Given the description of an element on the screen output the (x, y) to click on. 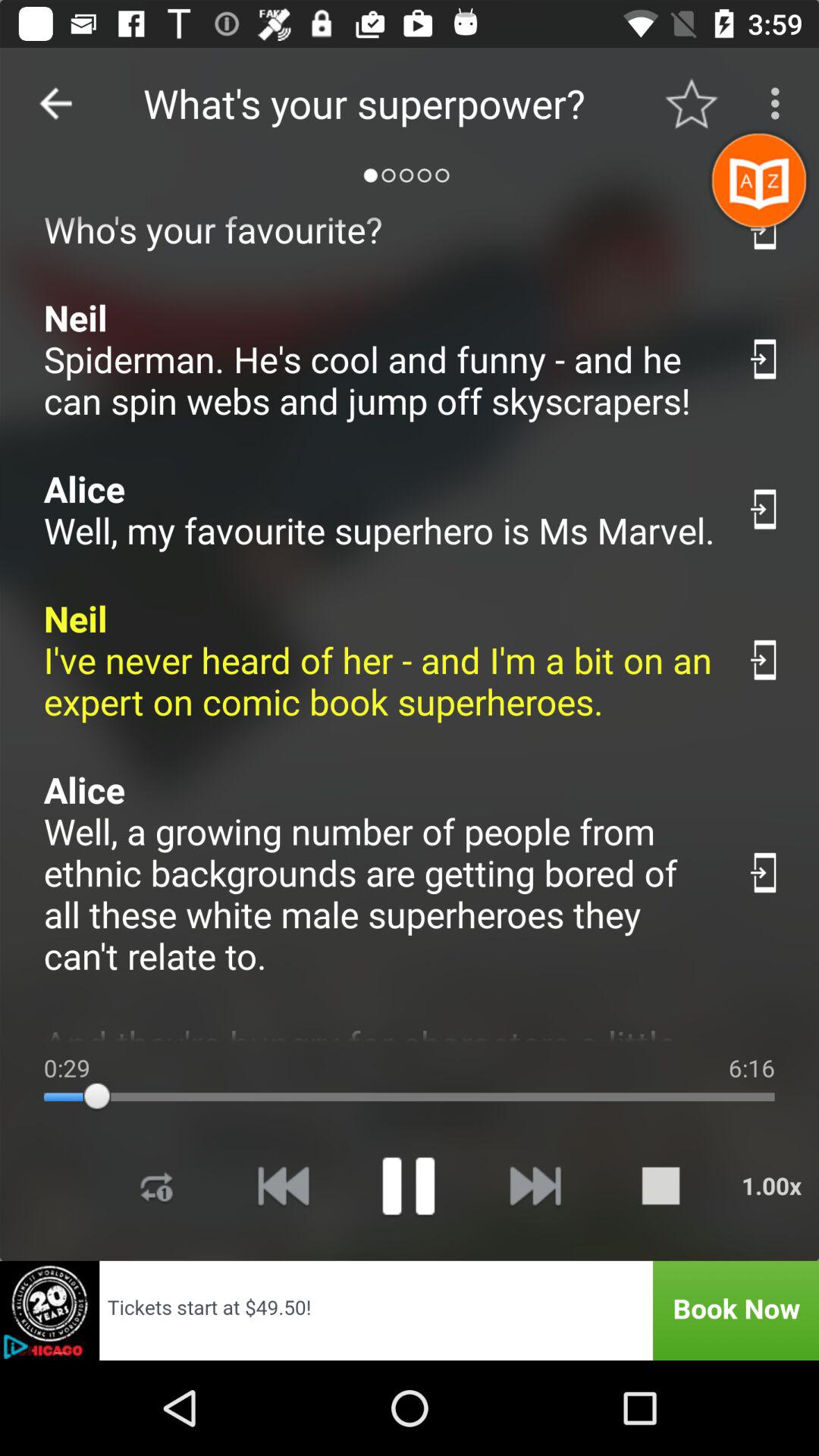
pause music (408, 1185)
